Given the description of an element on the screen output the (x, y) to click on. 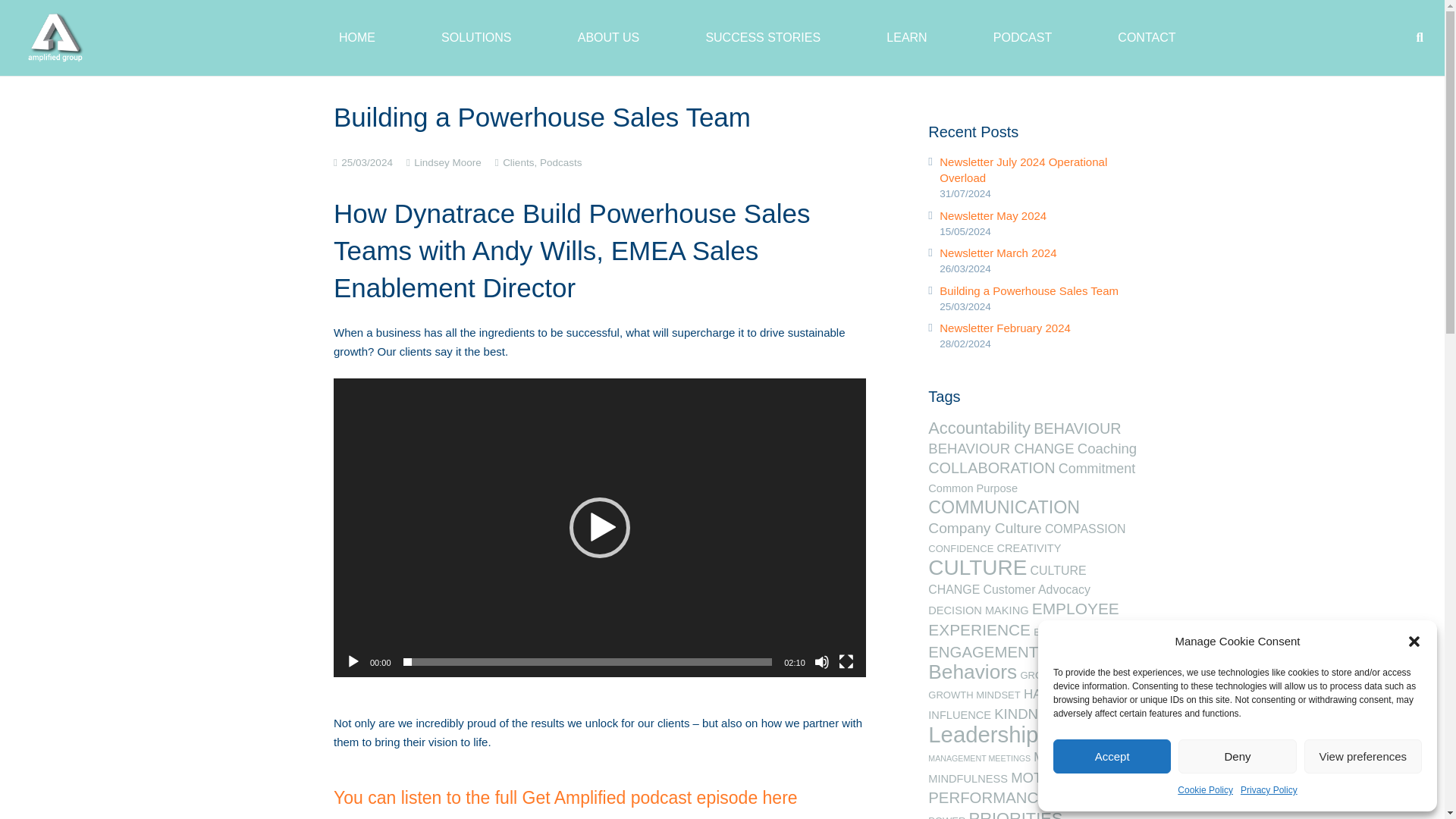
ABOUT US (608, 38)
Accept (1111, 756)
Deny (1236, 756)
SOLUTIONS (475, 38)
Cookie Policy (1205, 790)
View preferences (1363, 756)
Podcasts (561, 161)
Clients (518, 161)
Play (353, 661)
SUCCESS STORIES (762, 38)
